Given the description of an element on the screen output the (x, y) to click on. 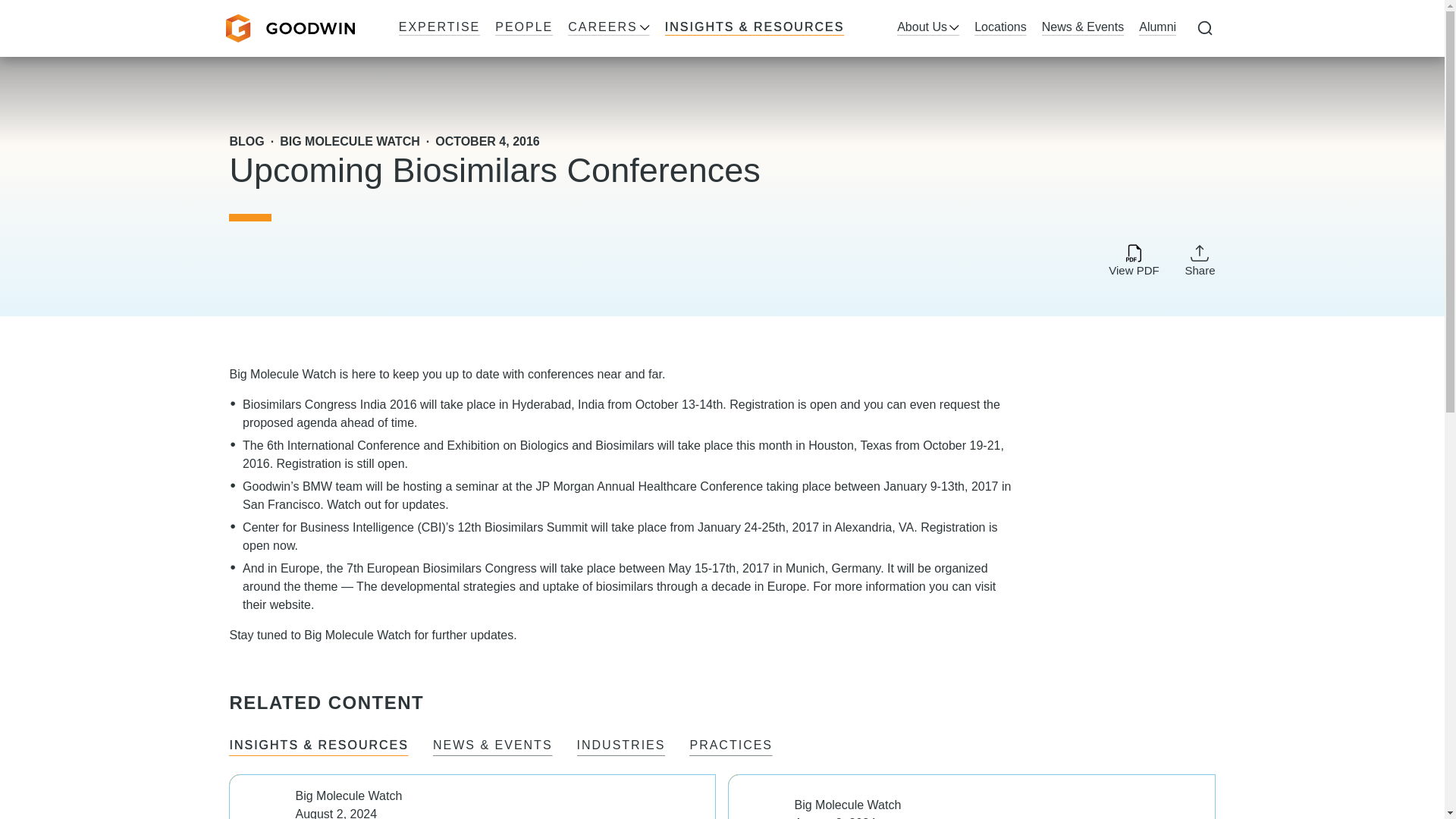
About Us (927, 28)
Registration (308, 463)
Locations (1000, 28)
website (290, 604)
Goodwin (290, 28)
INDUSTRIES (620, 746)
CAREERS (608, 28)
PEOPLE (524, 28)
View PDF (1133, 261)
